Given the description of an element on the screen output the (x, y) to click on. 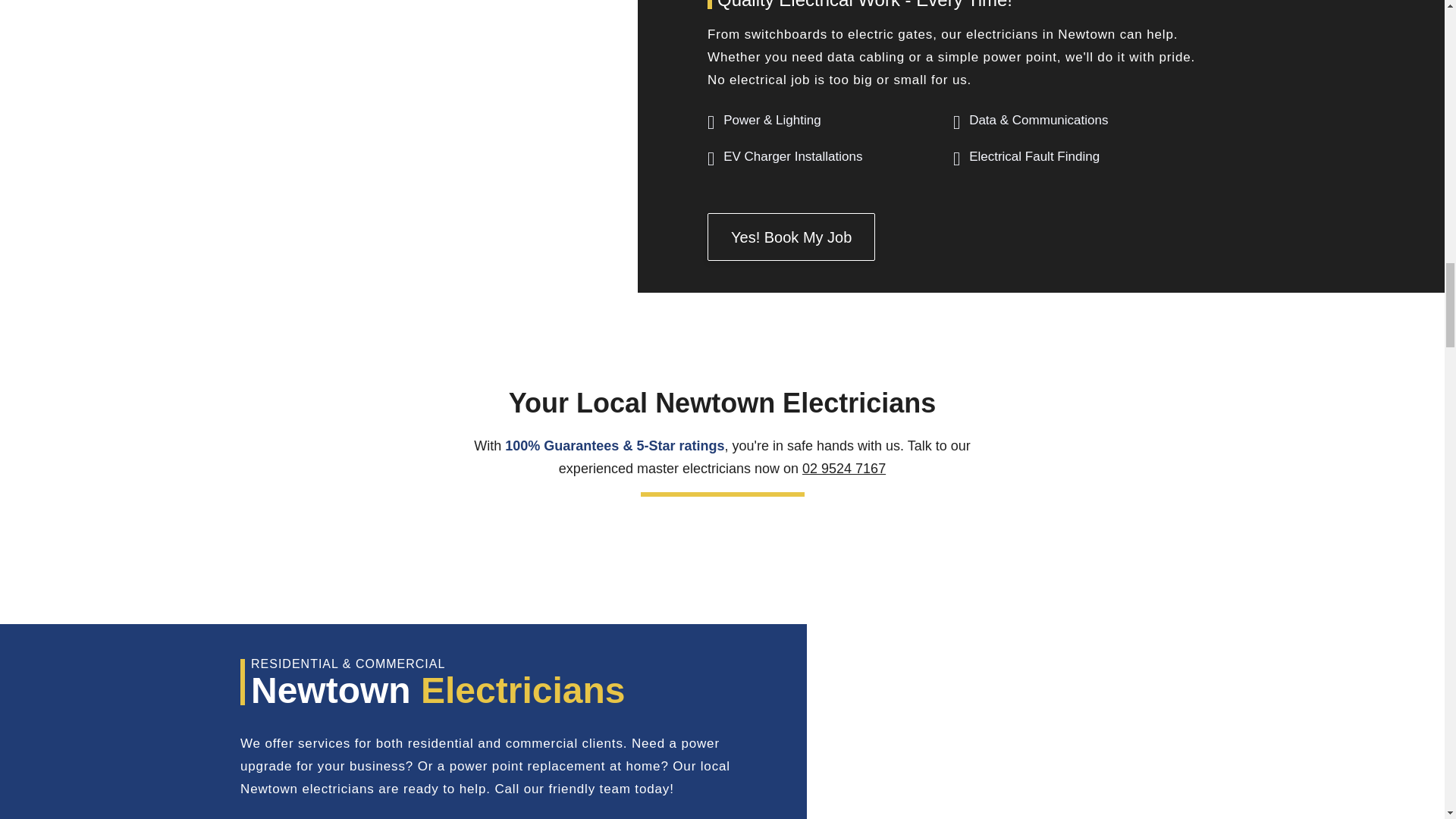
02 9524 7167 (843, 468)
EV Charger Installations (792, 156)
Yes! Book My Job (791, 236)
Electrical Fault Finding (1034, 156)
